Given the description of an element on the screen output the (x, y) to click on. 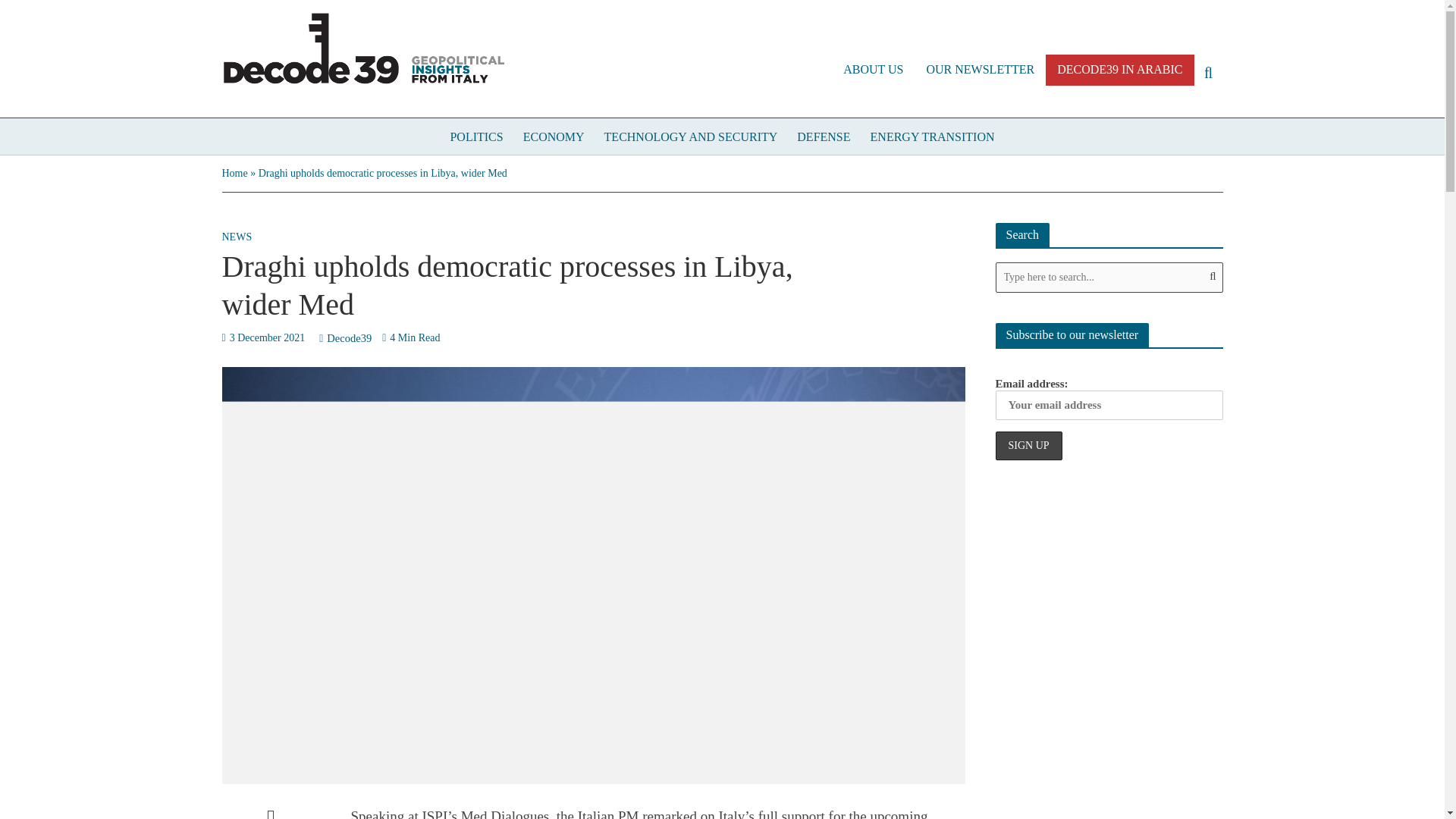
POLITICS (475, 136)
OUR NEWSLETTER (979, 69)
ABOUT US (872, 69)
NEWS (236, 239)
Decode39 (348, 339)
ECONOMY (553, 136)
Sign up (1027, 445)
DECODE39 IN ARABIC (1119, 69)
ENERGY TRANSITION (932, 136)
Home (234, 173)
TECHNOLOGY AND SECURITY (690, 136)
DEFENSE (823, 136)
